Given the description of an element on the screen output the (x, y) to click on. 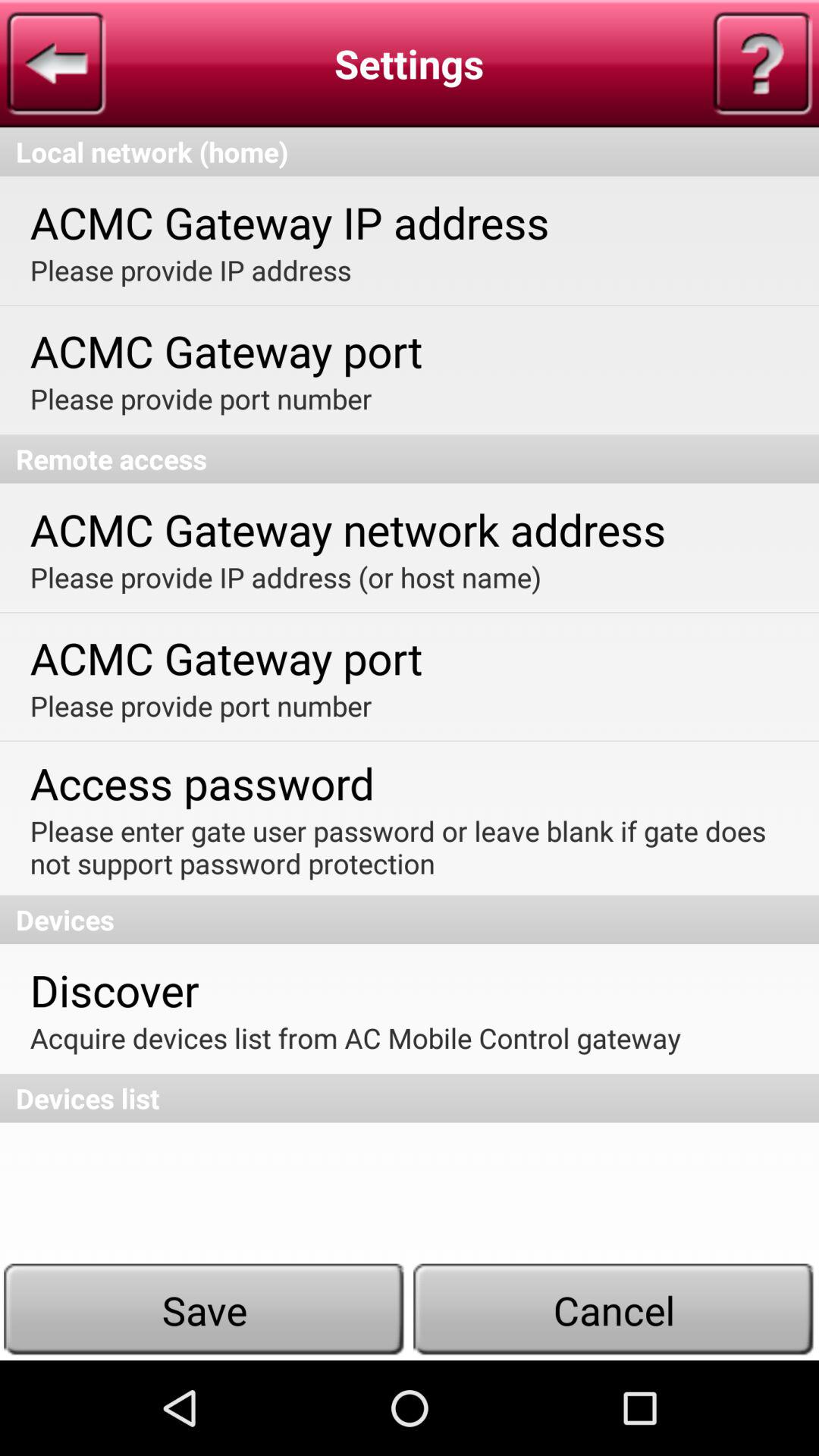
launch discover item (114, 989)
